Given the description of an element on the screen output the (x, y) to click on. 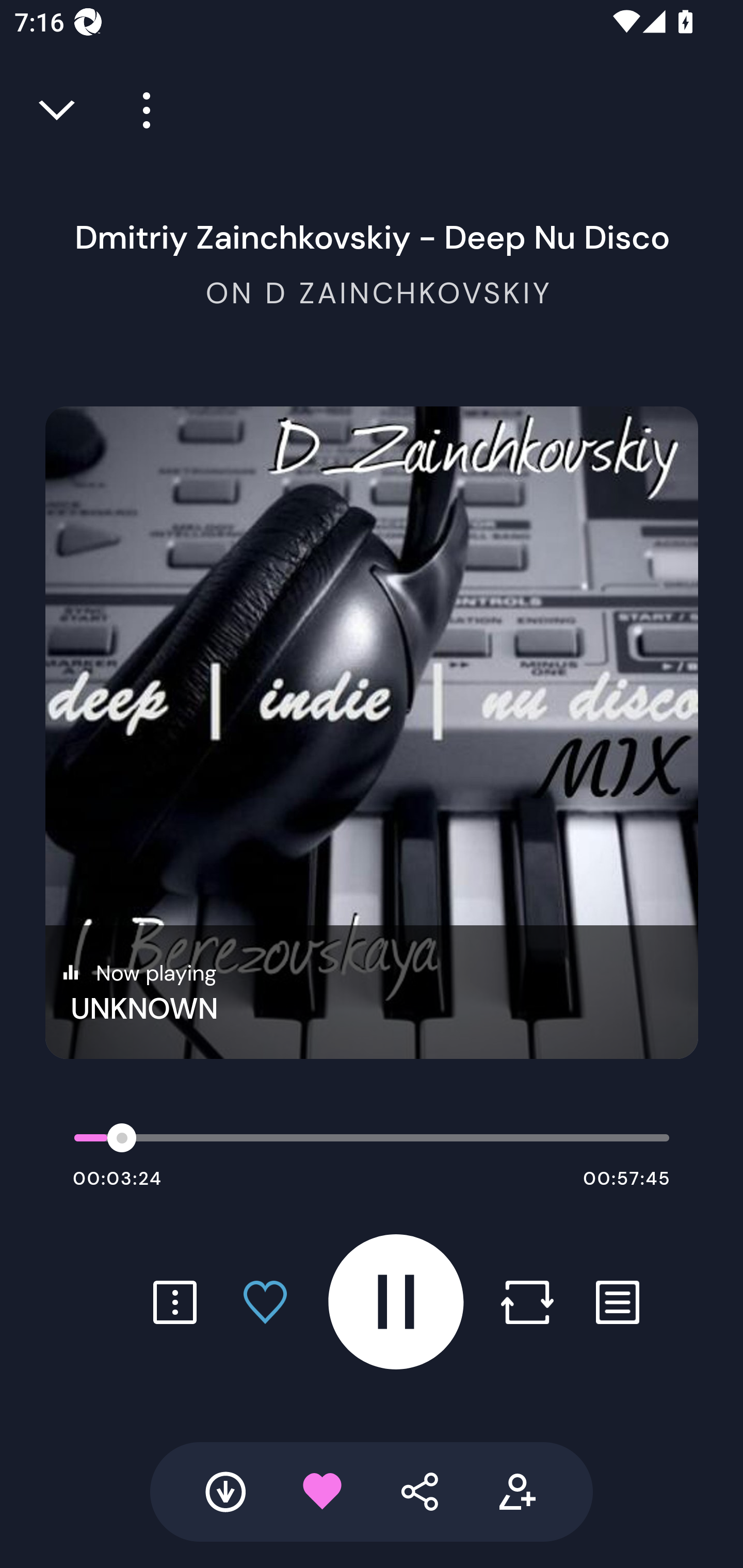
Close full player (58, 110)
Player more options button (139, 110)
Repost button (527, 1301)
